Given the description of an element on the screen output the (x, y) to click on. 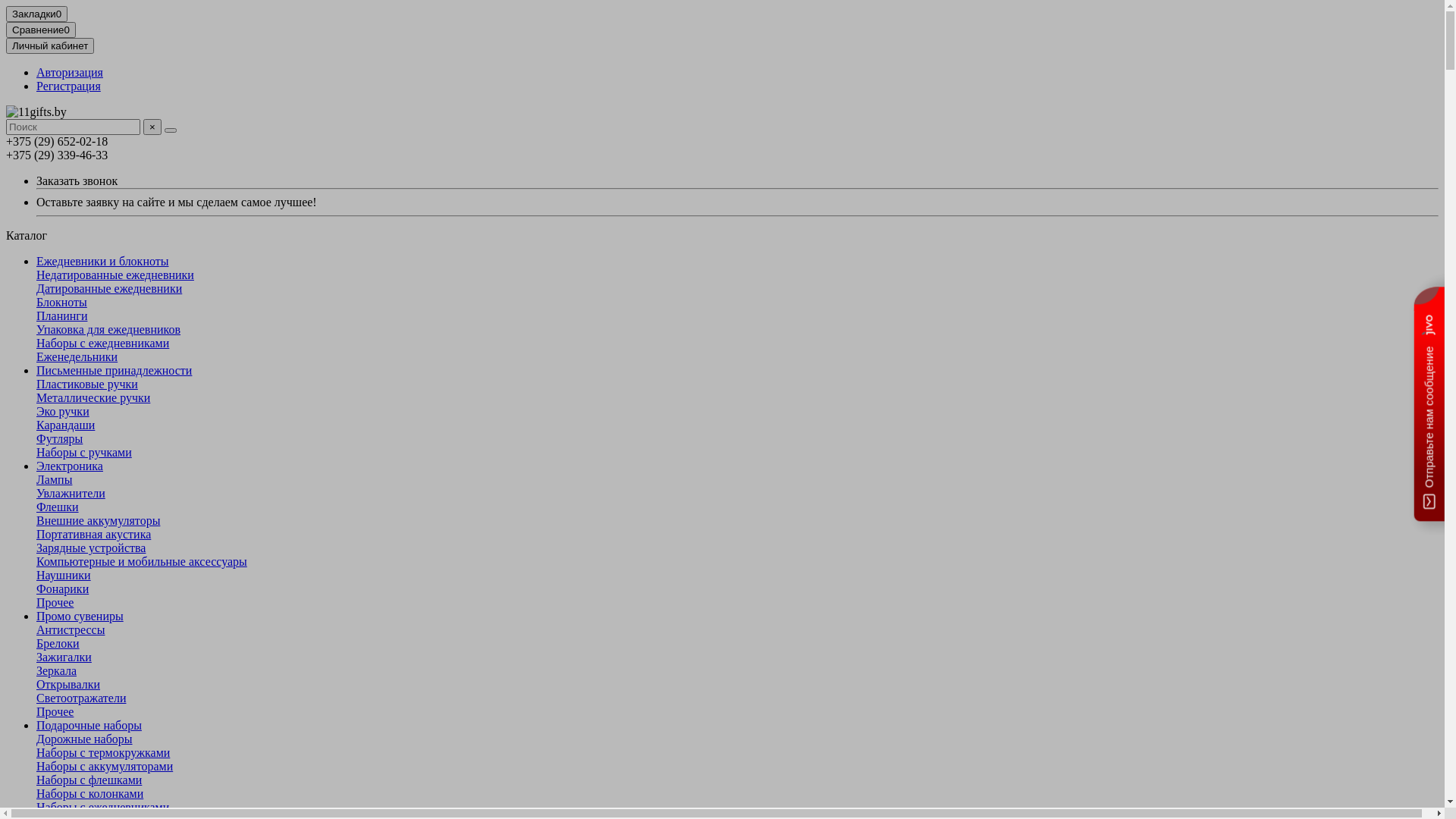
+375 (29) 652-02-18 Element type: text (56, 140)
+375 (29) 339-46-33 Element type: text (56, 154)
11gifts.by Element type: hover (36, 112)
